Given the description of an element on the screen output the (x, y) to click on. 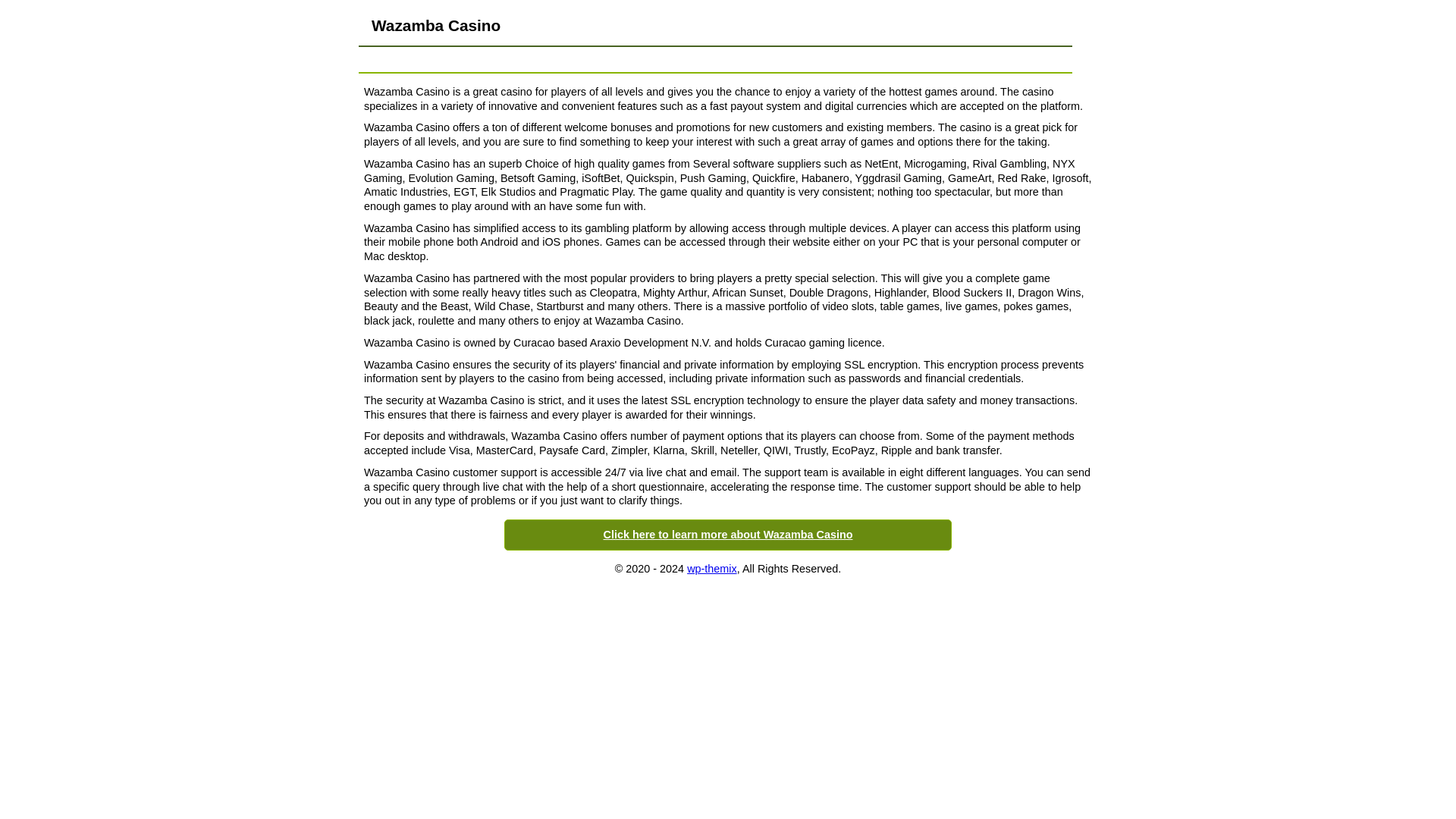
Fezbet Casino (495, 59)
LibraBet Casino (589, 59)
Wazamba Casino (867, 59)
Boaboa Casino (404, 59)
wp-themix (711, 568)
Nomini Casino (770, 59)
Fantastic Casino (970, 59)
Malina Casino (682, 59)
Click here to learn more about Wazamba Casino (728, 534)
